Given the description of an element on the screen output the (x, y) to click on. 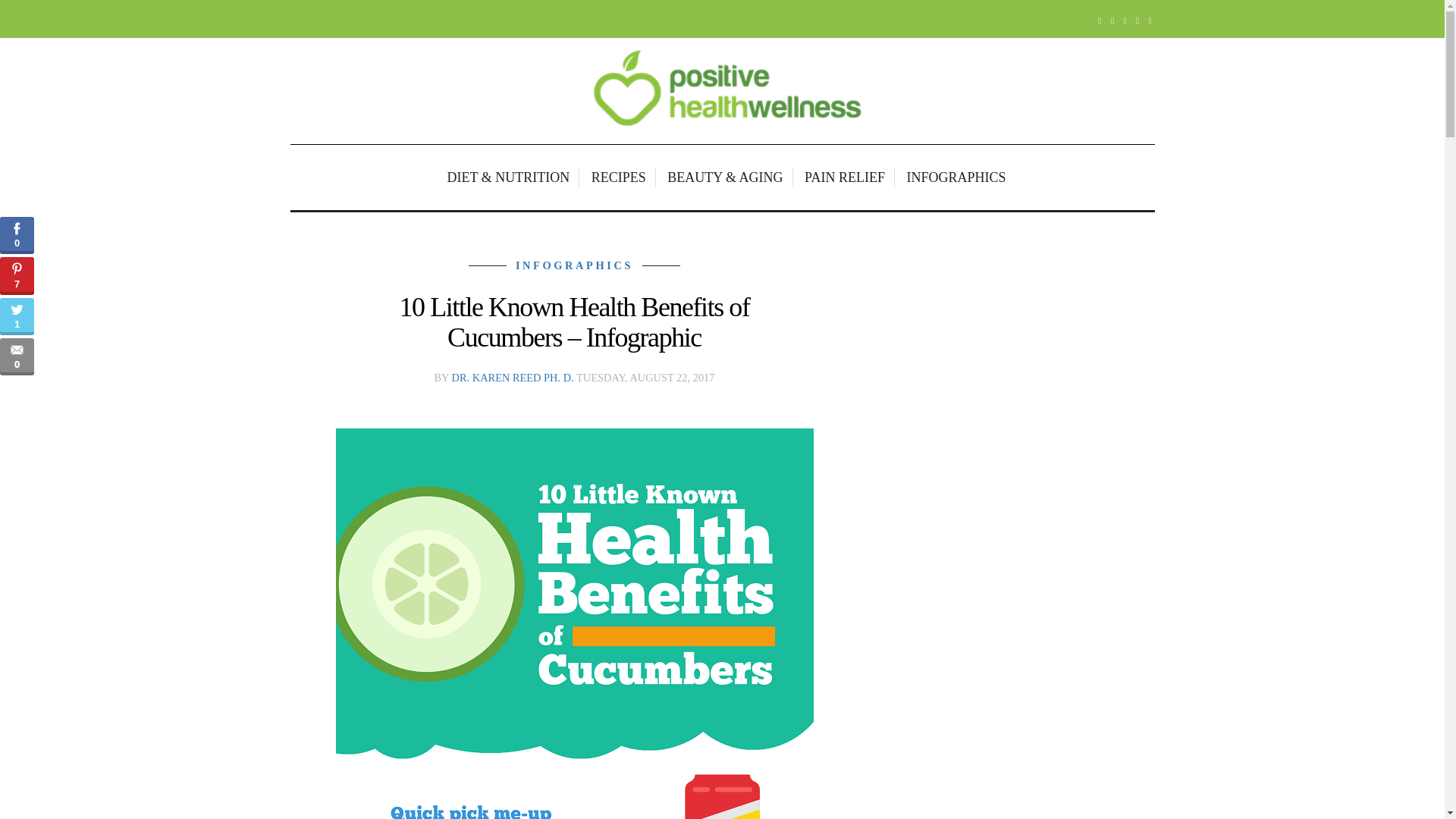
INFOGRAPHICS (952, 177)
Posts by Dr. Karen Reed Ph. D. (512, 377)
RECIPES (619, 177)
0 (16, 356)
DR. KAREN REED PH. D. (512, 377)
Researched and Credible Health Advice (721, 91)
0 (16, 235)
INFOGRAPHICS (574, 265)
1 (16, 316)
PAIN RELIEF (845, 177)
